Given the description of an element on the screen output the (x, y) to click on. 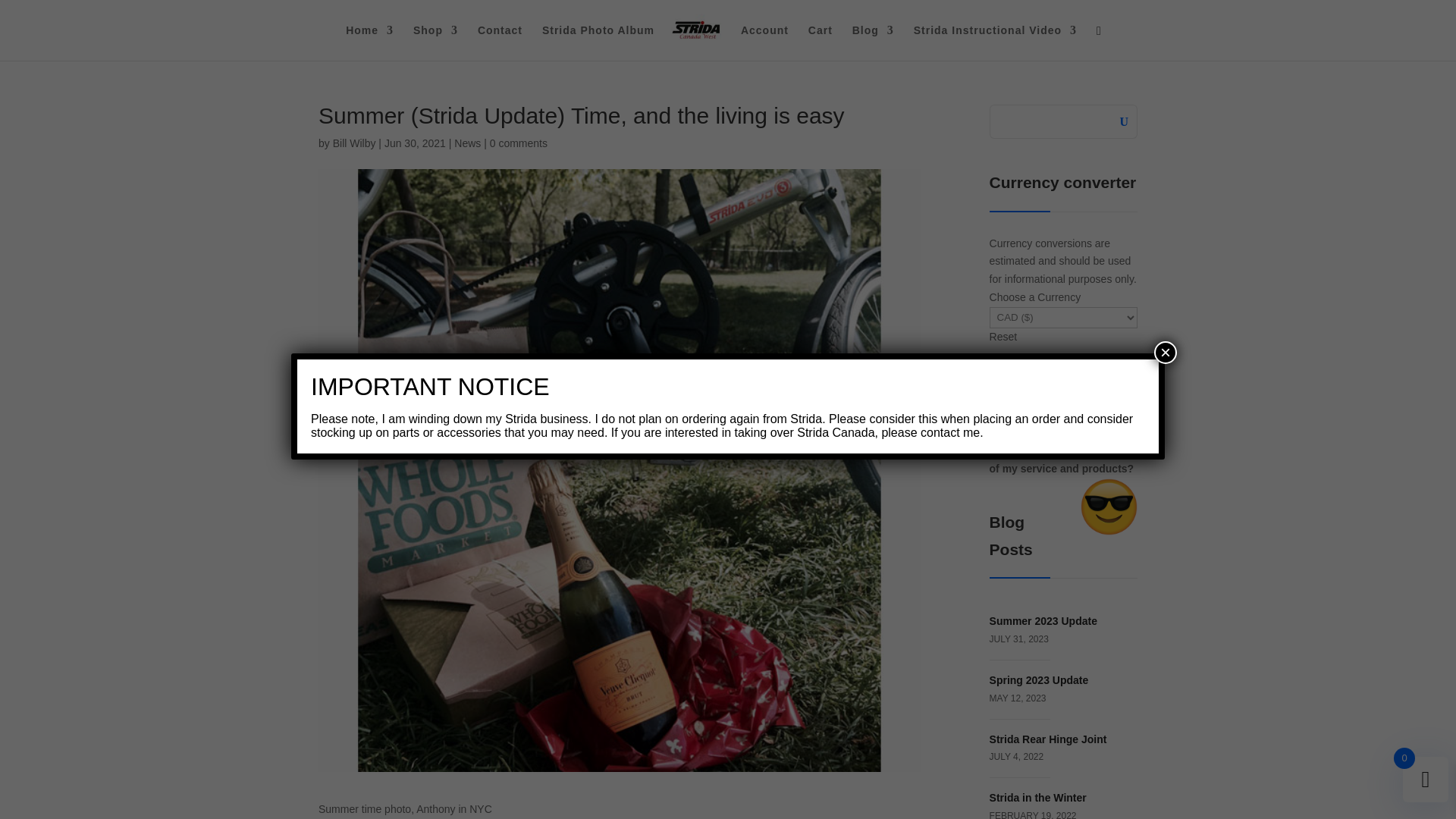
Contact (499, 42)
Shop (435, 42)
Posts by Bill Wilby (354, 143)
Strida Photo Album (597, 42)
Blog (872, 42)
Search (1121, 119)
Account (765, 42)
Strida Instructional Video (995, 42)
Home (369, 42)
